Given the description of an element on the screen output the (x, y) to click on. 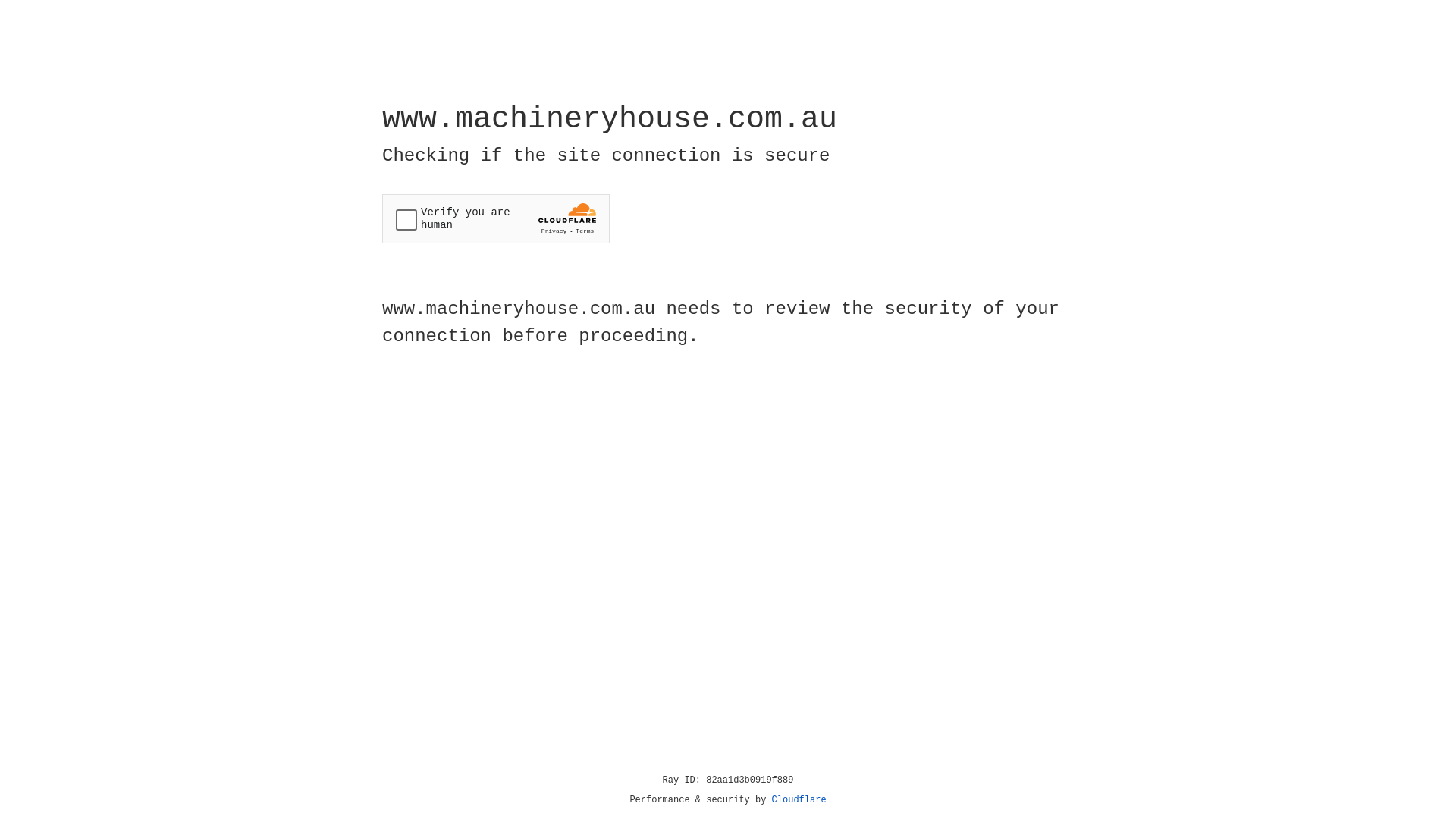
Cloudflare Element type: text (798, 799)
Widget containing a Cloudflare security challenge Element type: hover (495, 218)
